Given the description of an element on the screen output the (x, y) to click on. 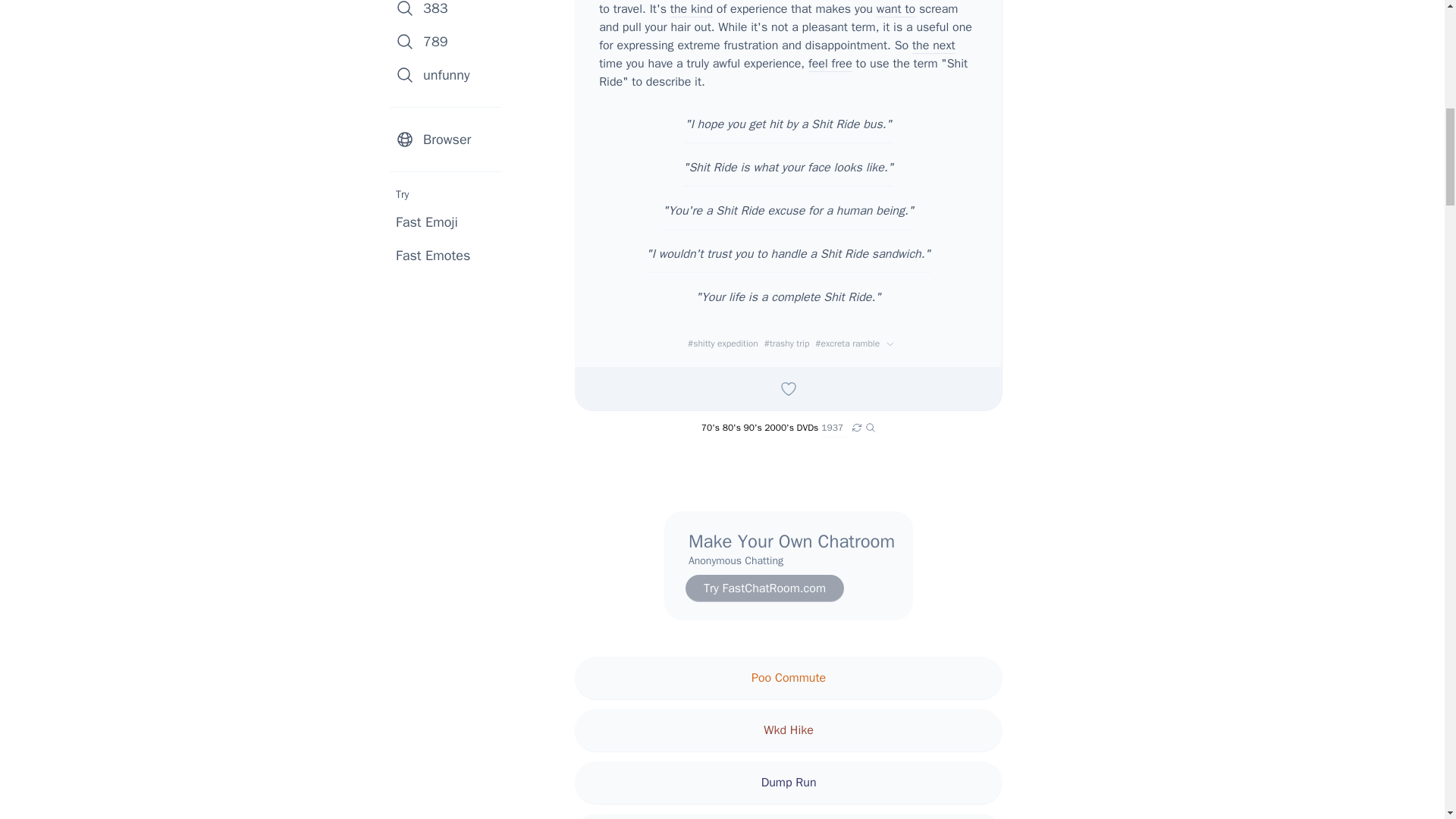
789 (450, 41)
Fast Emoji (427, 221)
unfunny (450, 74)
Fast Emotes (433, 255)
Browser (450, 139)
unfunny (450, 74)
383 (450, 12)
789 (450, 41)
383 (450, 12)
